Given the description of an element on the screen output the (x, y) to click on. 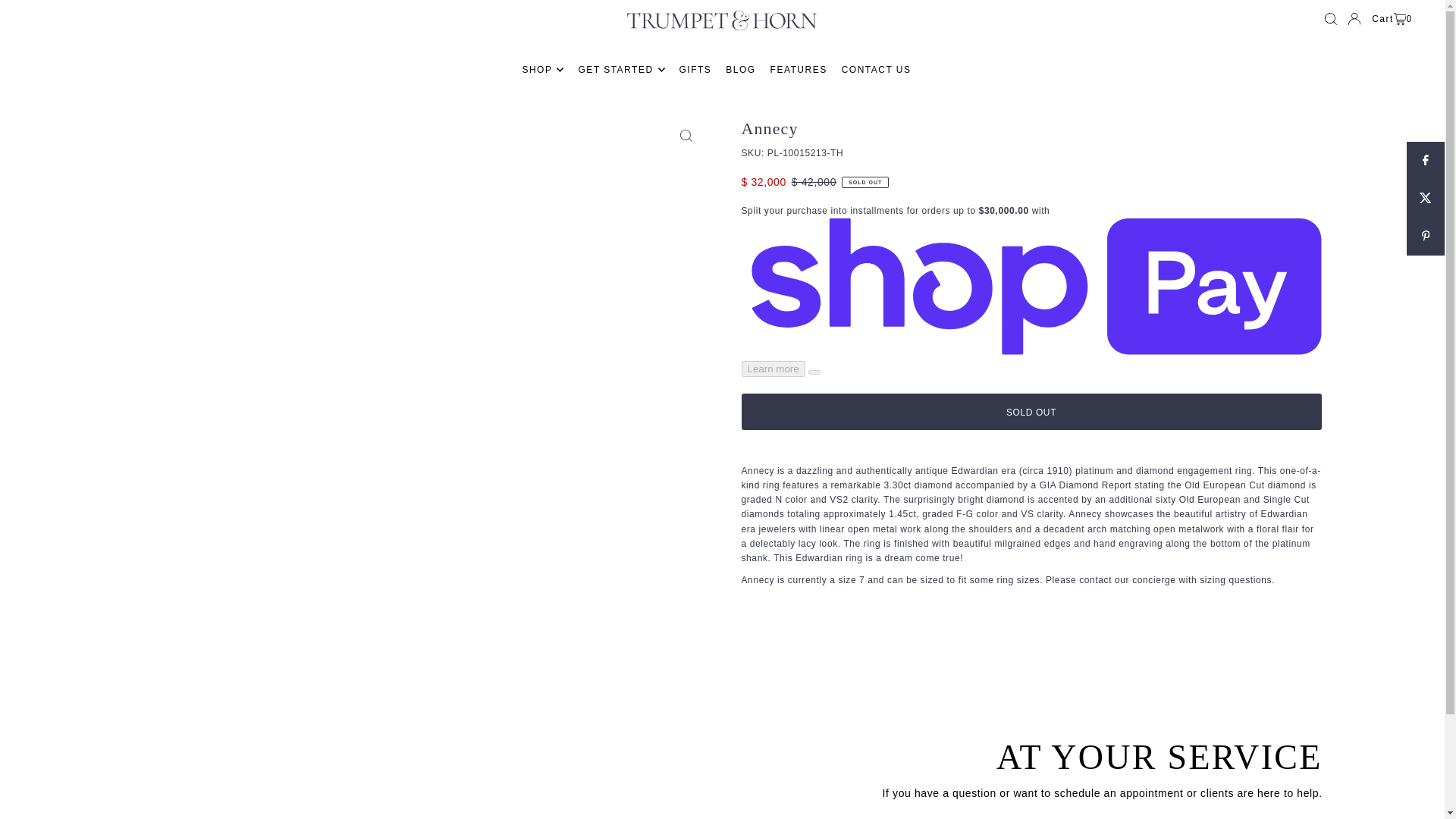
Click to zoom (685, 135)
Sold Out (1031, 411)
